Given the description of an element on the screen output the (x, y) to click on. 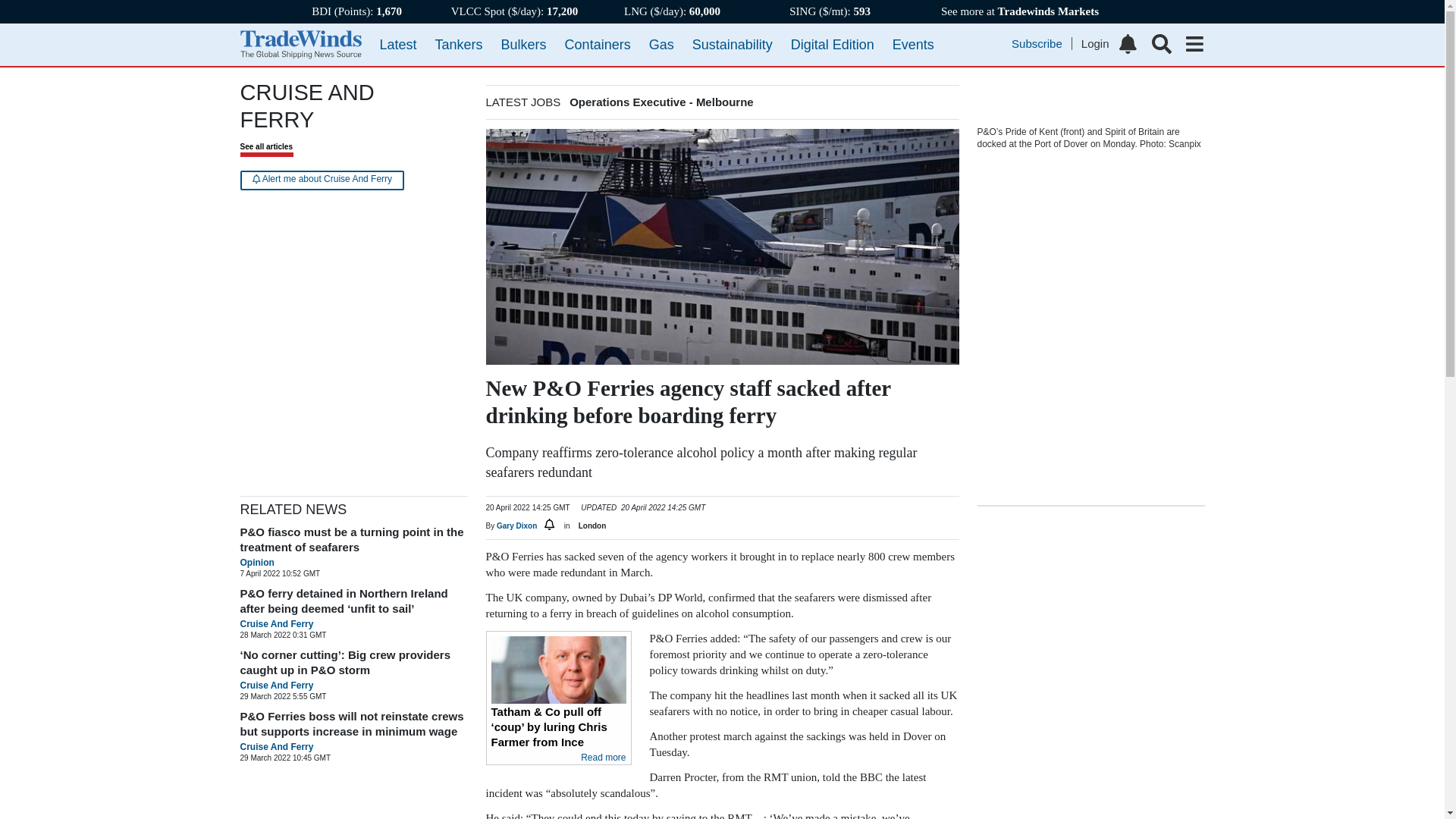
Gas (661, 44)
Latest (397, 44)
Digital Edition (832, 44)
Login (1095, 42)
Bulkers (523, 44)
Tankers (459, 44)
Sustainability (733, 44)
Subscribe (1041, 42)
Events (913, 44)
Containers (597, 44)
